Given the description of an element on the screen output the (x, y) to click on. 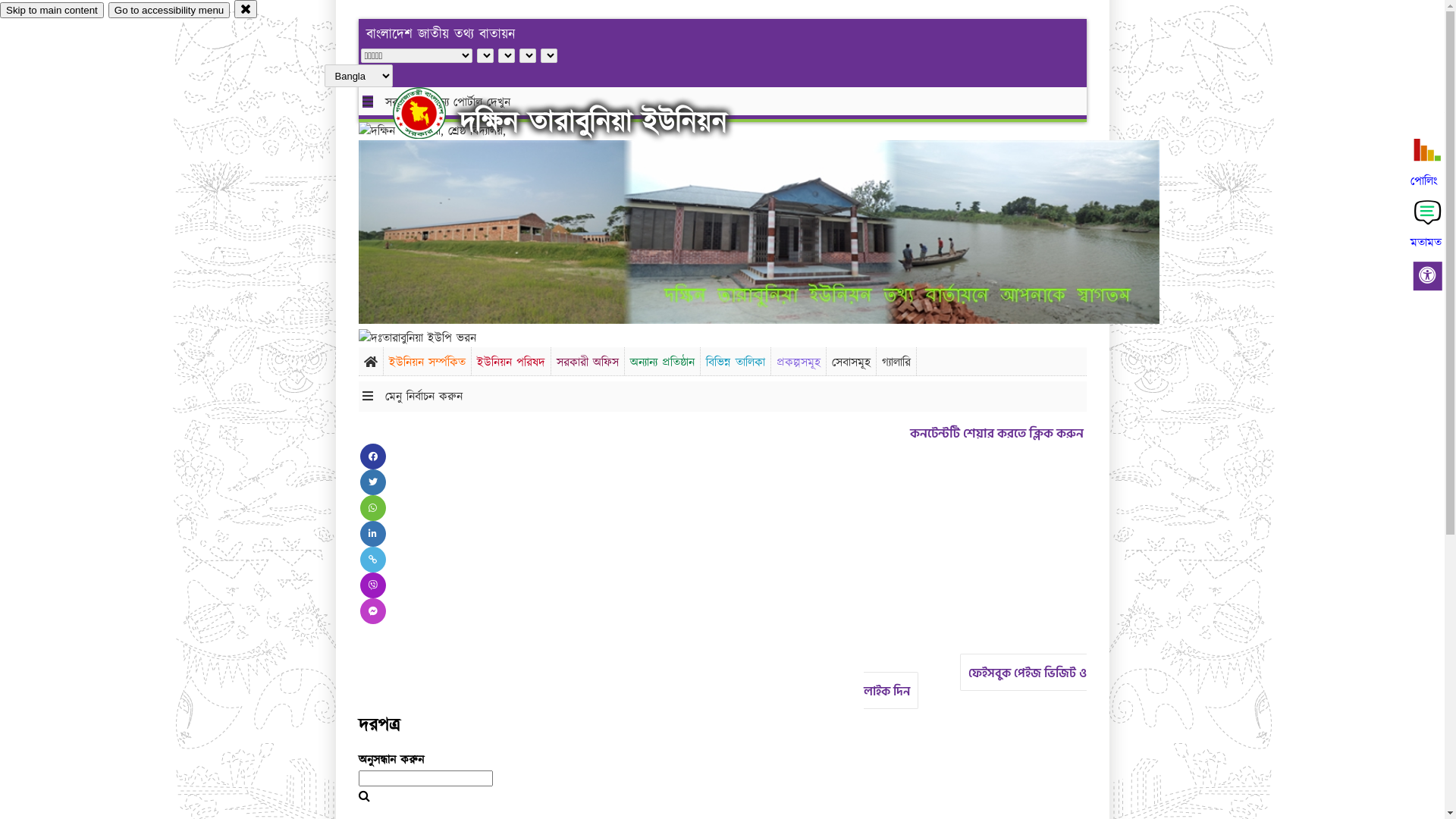
Skip to main content Element type: text (51, 10)
Go to accessibility menu Element type: text (168, 10)

                
             Element type: hover (431, 112)
close Element type: hover (245, 9)
